Given the description of an element on the screen output the (x, y) to click on. 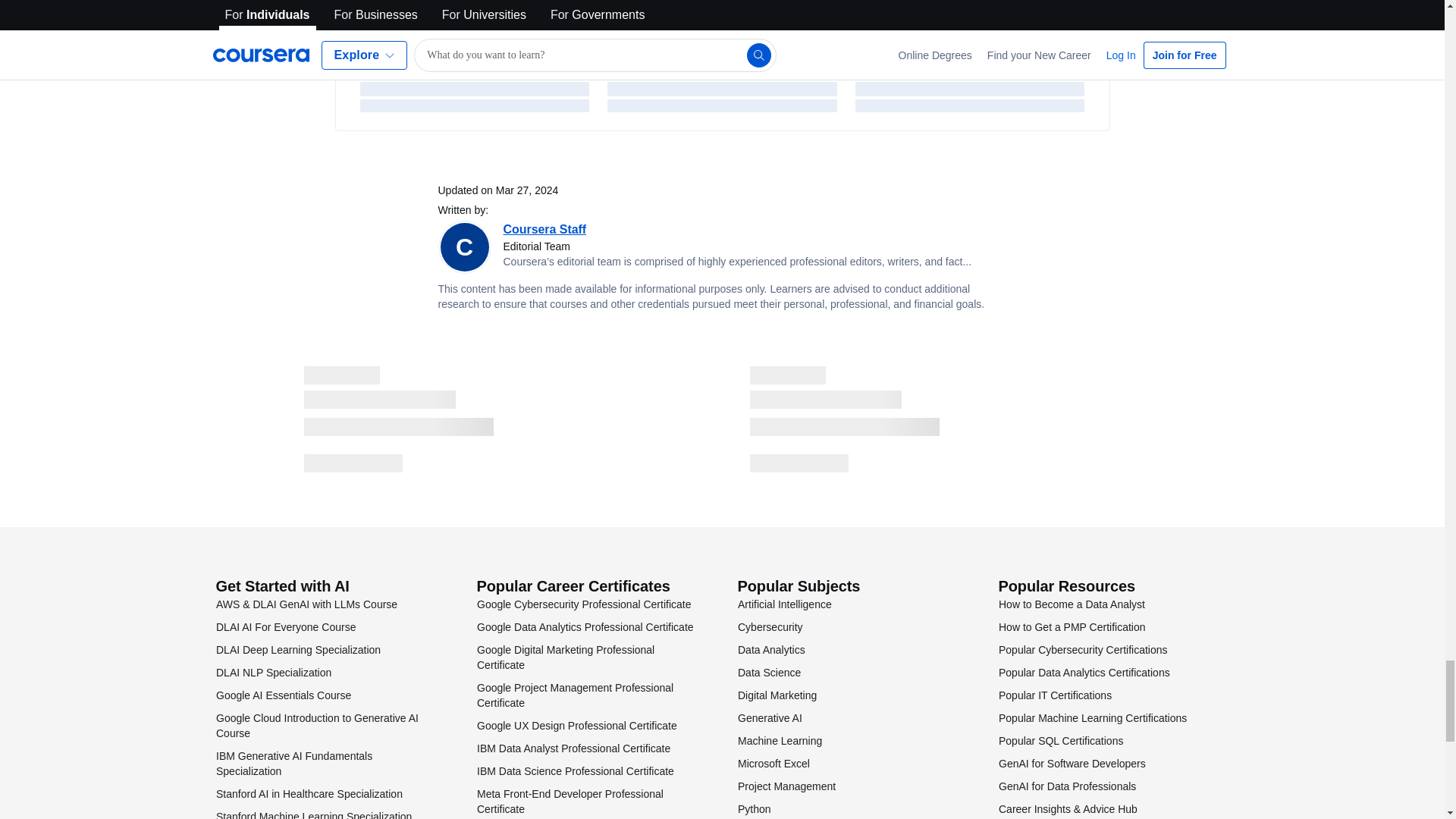
Coursera Staff (544, 228)
DLAI AI For Everyone Course (285, 626)
DLAI NLP Specialization (272, 672)
DLAI Deep Learning Specialization (297, 649)
